Given the description of an element on the screen output the (x, y) to click on. 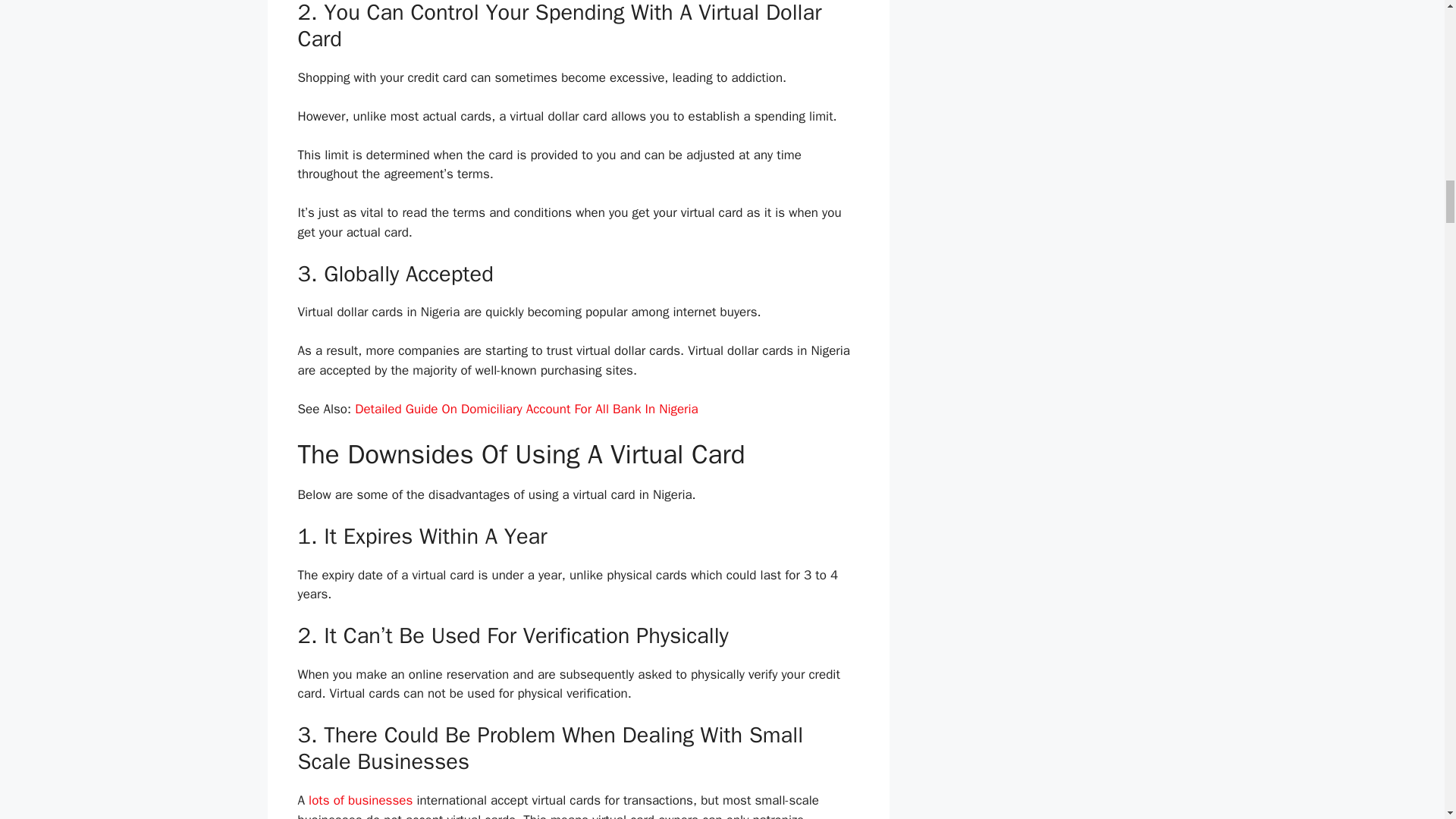
lots of businesses (360, 800)
